Given the description of an element on the screen output the (x, y) to click on. 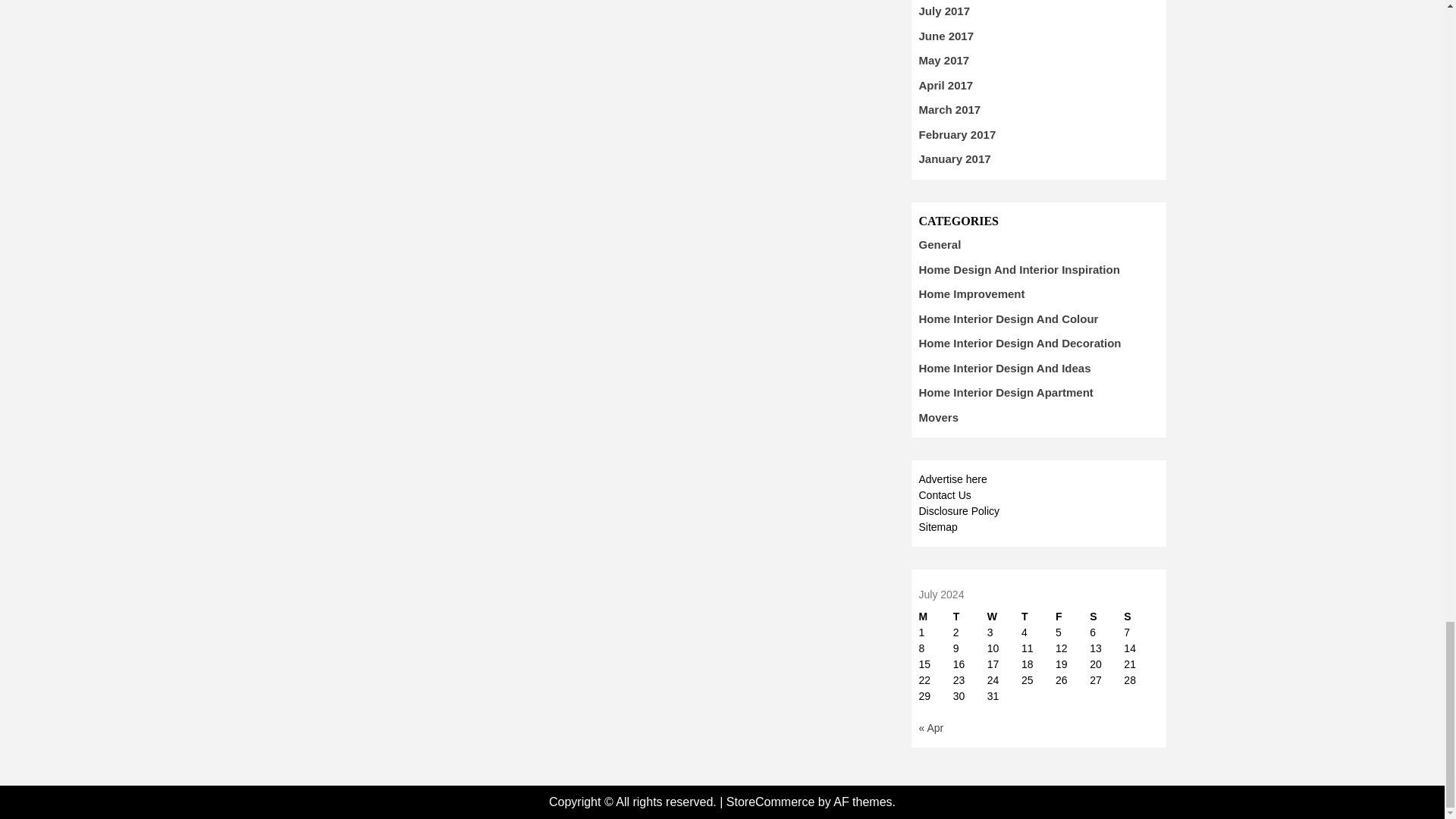
Wednesday (1004, 616)
Thursday (1038, 616)
Monday (935, 616)
Saturday (1106, 616)
Tuesday (970, 616)
Friday (1072, 616)
Sunday (1140, 616)
